Given the description of an element on the screen output the (x, y) to click on. 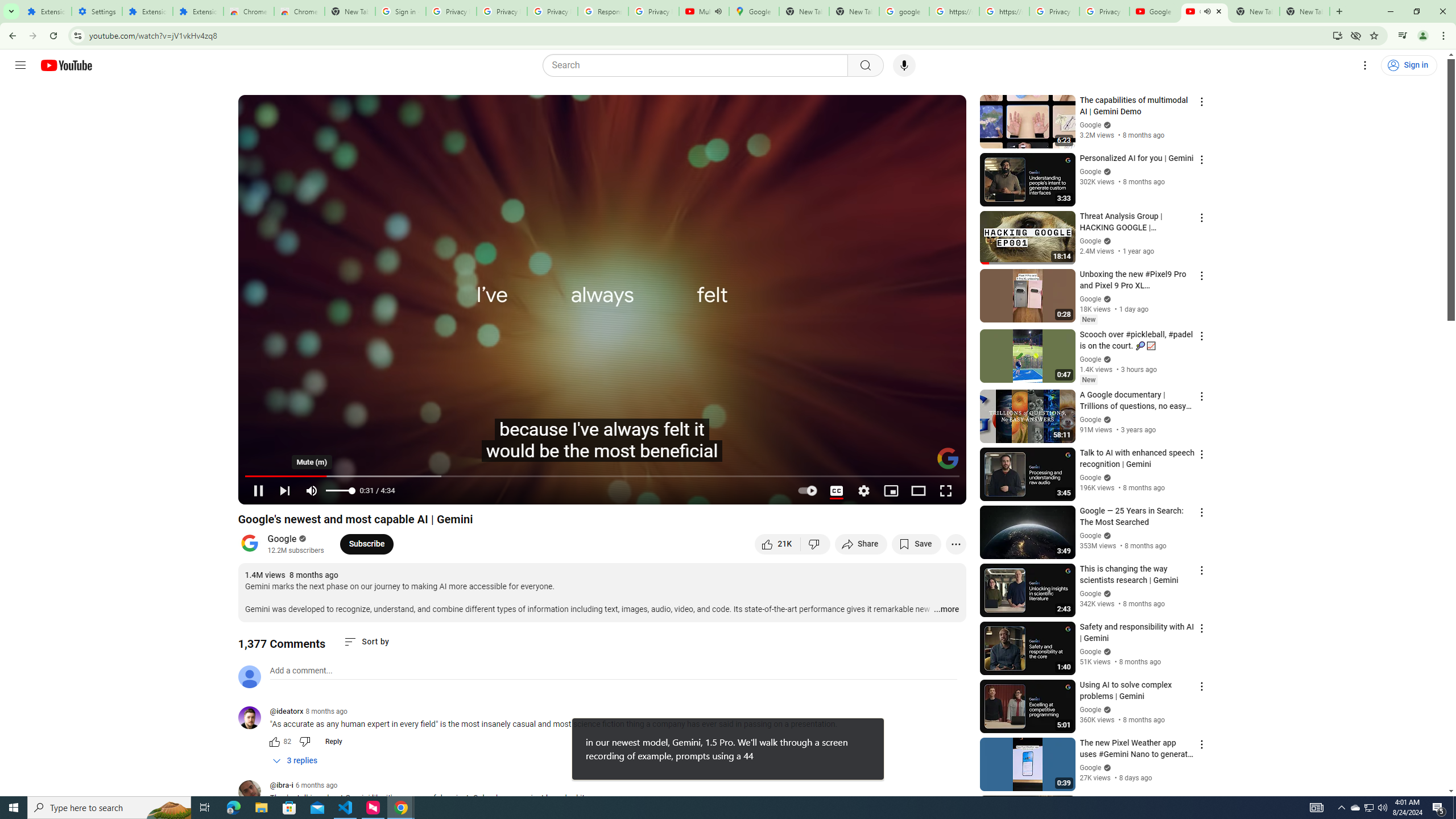
Channel watermark (947, 458)
Next (SHIFT+n) (284, 490)
Volume (339, 490)
Miniplayer (i) (890, 490)
Reply (333, 741)
Dislike this comment (304, 741)
More actions (955, 543)
Channel watermark (947, 458)
Chrome Web Store (248, 11)
Install YouTube (1336, 35)
like this video along with 21,118 other people (777, 543)
